Given the description of an element on the screen output the (x, y) to click on. 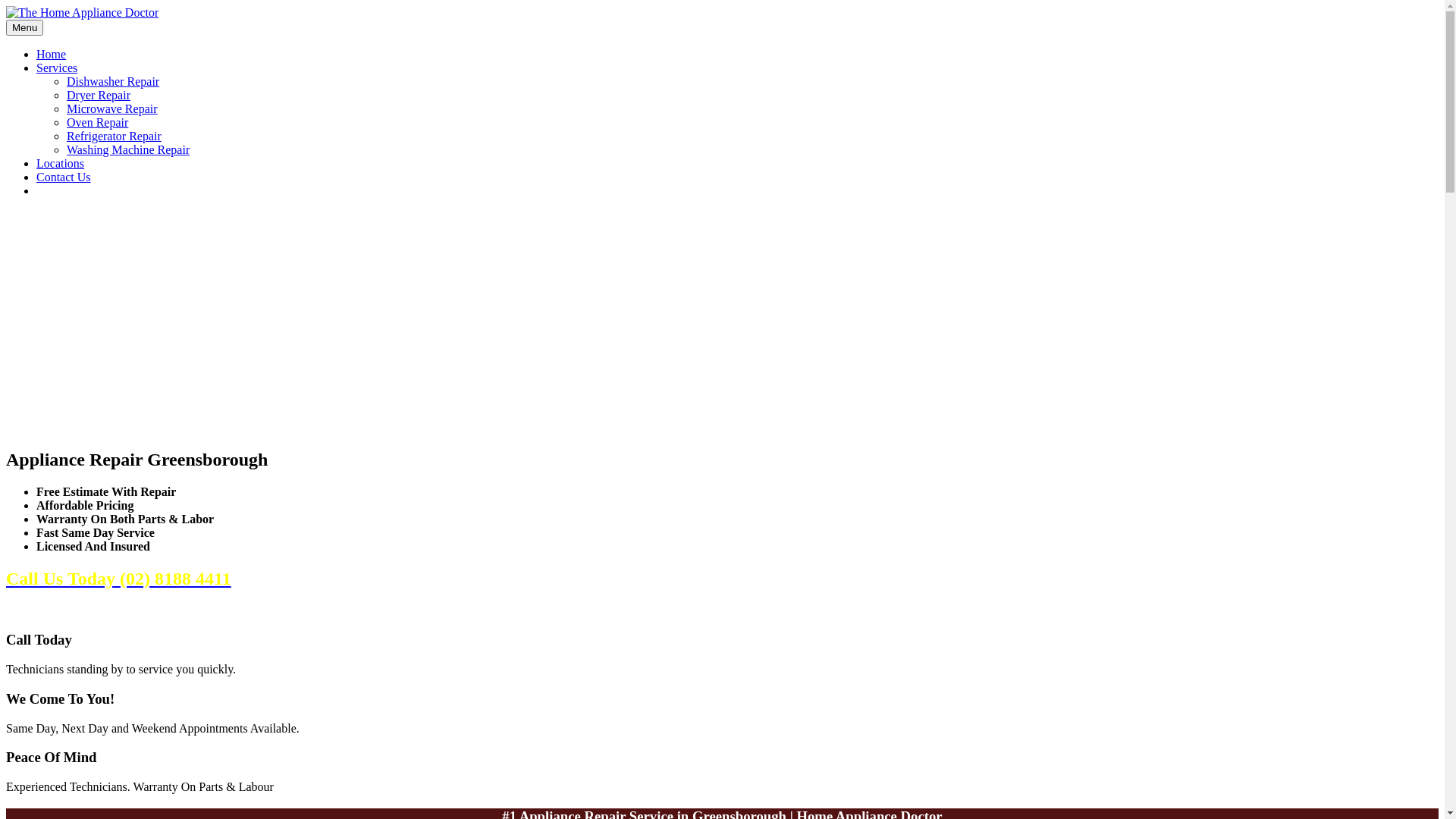
Home Element type: text (50, 53)
Oven Repair Element type: text (97, 122)
Menu Element type: text (24, 27)
Washing Machine Repair Element type: text (127, 149)
Locations Element type: text (60, 162)
Dishwasher Repair Element type: text (112, 81)
Refrigerator Repair Element type: text (113, 135)
Microwave Repair Element type: text (111, 108)
Services Element type: text (56, 67)
Dryer Repair Element type: text (98, 94)
Contact Us Element type: text (63, 176)
Call Us Today (02) 8188 4411 Element type: text (118, 578)
The Home Appliance Doctor Element type: hover (82, 12)
